Given the description of an element on the screen output the (x, y) to click on. 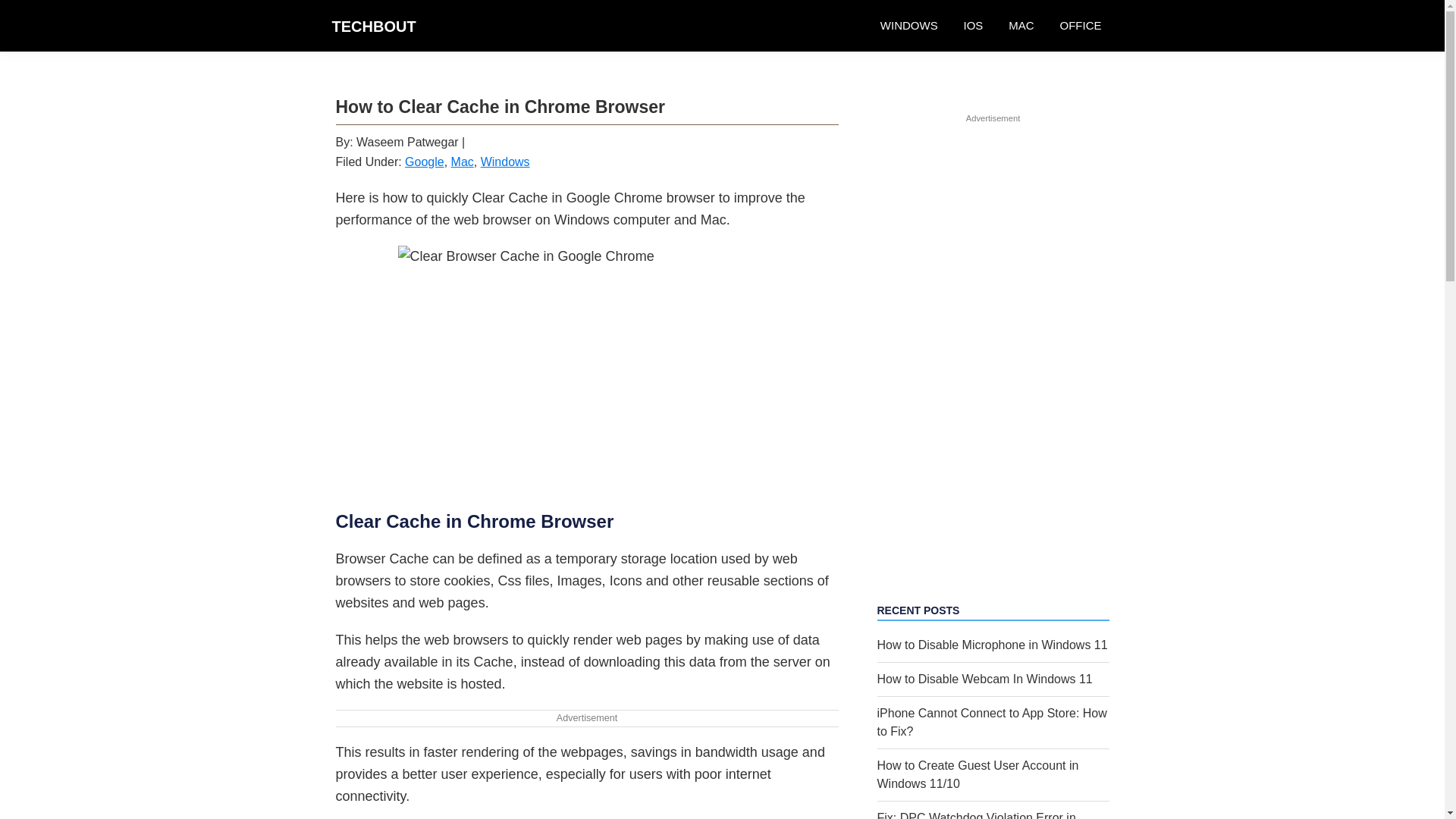
MAC (1021, 25)
How to Disable Microphone in Windows 11 (991, 644)
Google (424, 161)
WINDOWS (909, 25)
IOS (973, 25)
Mac (462, 161)
iPhone Cannot Connect to App Store: How to Fix? (991, 721)
Fix: DPC Watchdog Violation Error in Windows (975, 815)
How to Clear Browser Cache in Google Chrome (586, 366)
TECHBOUT (373, 26)
OFFICE (1080, 25)
Windows (504, 161)
How to Disable Webcam In Windows 11 (984, 678)
